Given the description of an element on the screen output the (x, y) to click on. 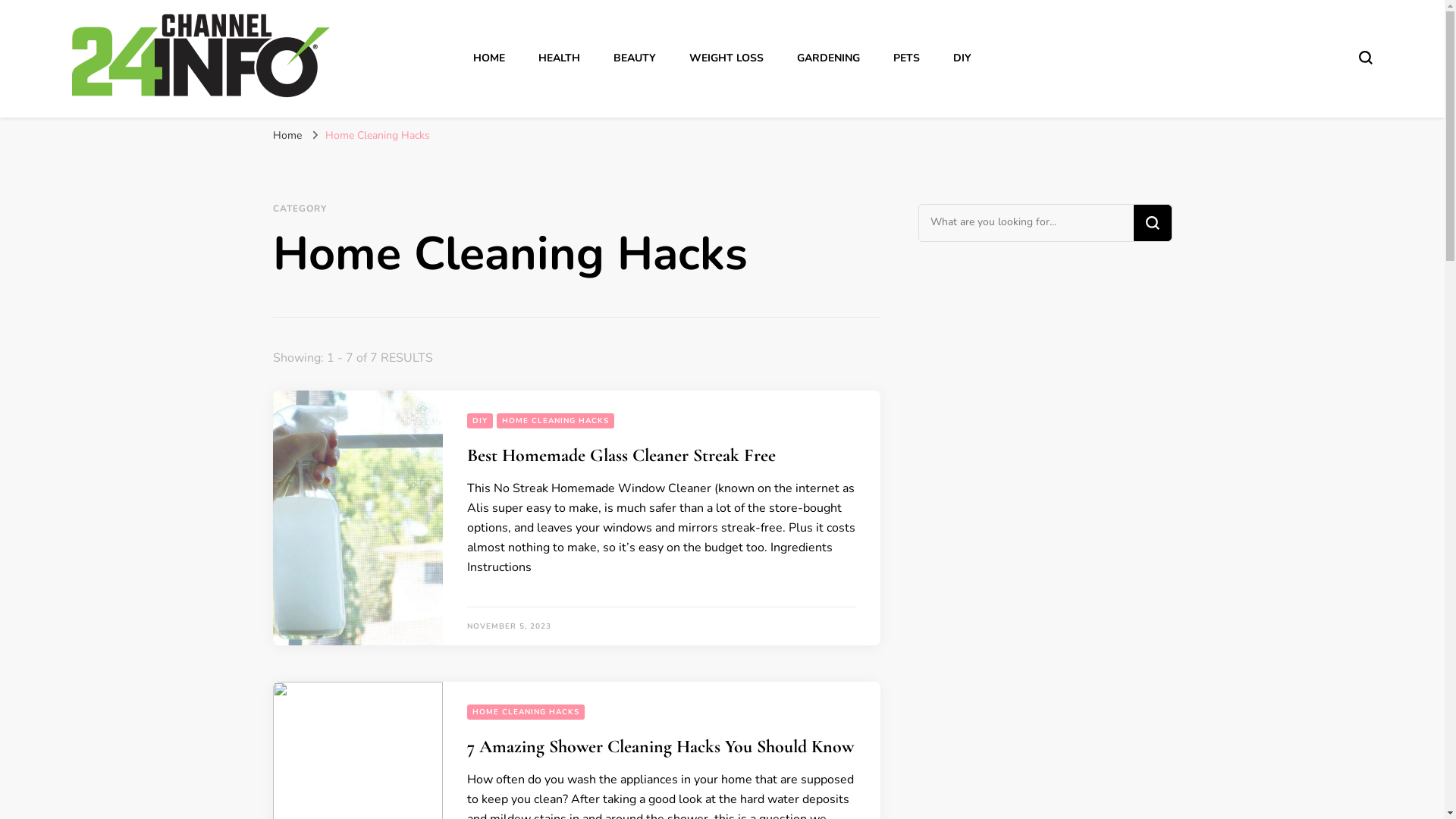
WEIGHT LOSS Element type: text (726, 57)
HEALTH Element type: text (559, 57)
HOME CLEANING HACKS Element type: text (554, 420)
NOVEMBER 5, 2023 Element type: text (509, 626)
DIY Element type: text (479, 420)
7 Amazing Shower Cleaning Hacks You Should Know Element type: text (660, 746)
PETS Element type: text (906, 57)
DIY Element type: text (962, 57)
GARDENING Element type: text (828, 57)
Search Element type: text (1151, 222)
Home Element type: text (287, 135)
Best Homemade Glass Cleaner Streak Free Element type: text (621, 455)
24 Info Channel Element type: text (157, 121)
HOME Element type: text (489, 57)
BEAUTY Element type: text (634, 57)
Home Cleaning Hacks Element type: text (376, 135)
HOME CLEANING HACKS Element type: text (525, 711)
